Given the description of an element on the screen output the (x, y) to click on. 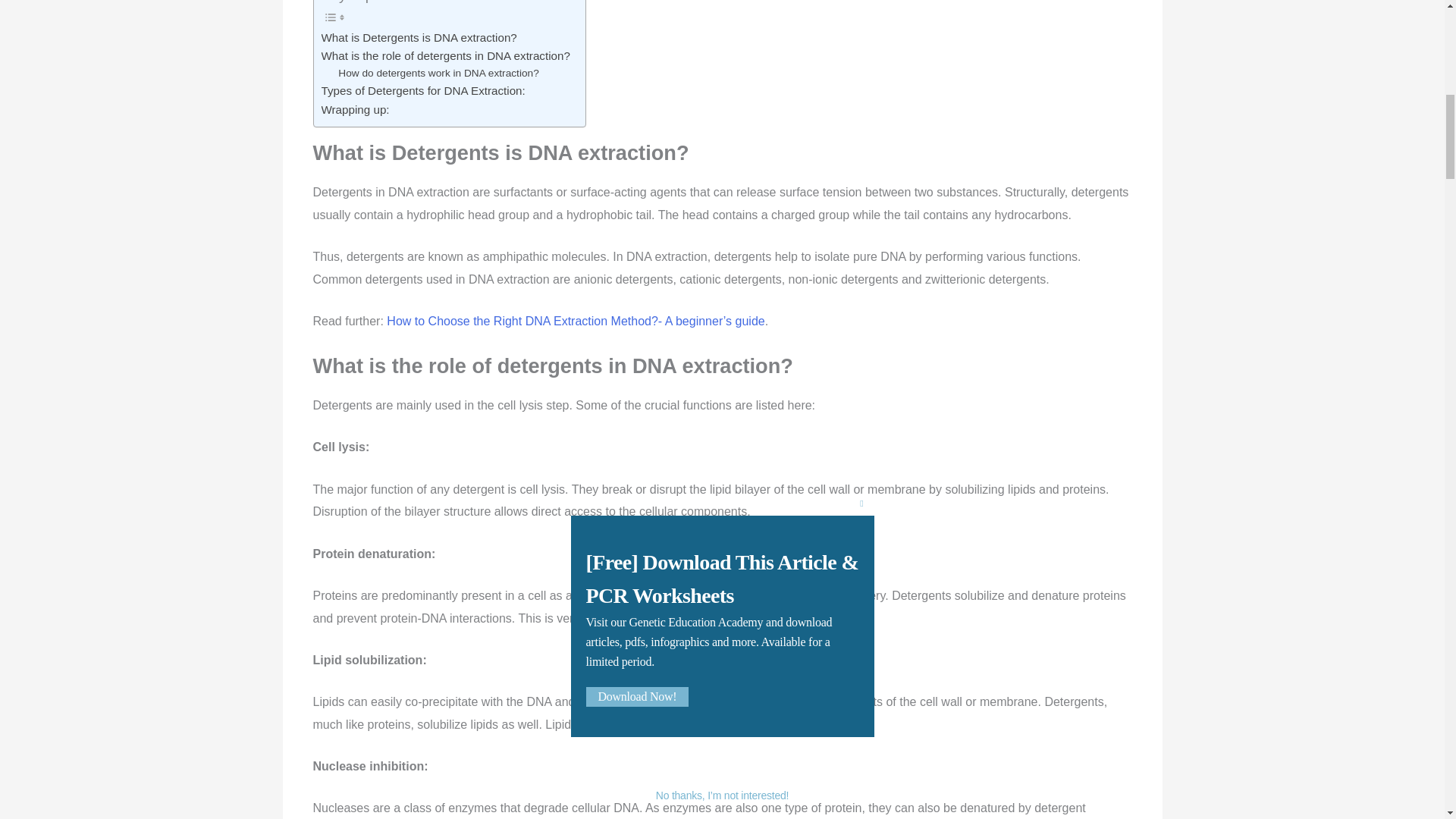
How do detergents work in DNA extraction?  (439, 73)
What is the role of detergents in DNA extraction? (445, 55)
What is Detergents is DNA extraction?  (421, 37)
Types of Detergents for DNA Extraction:  (425, 90)
Wrapping up:  (357, 109)
What is the role of detergents in DNA extraction? (445, 55)
